Given the description of an element on the screen output the (x, y) to click on. 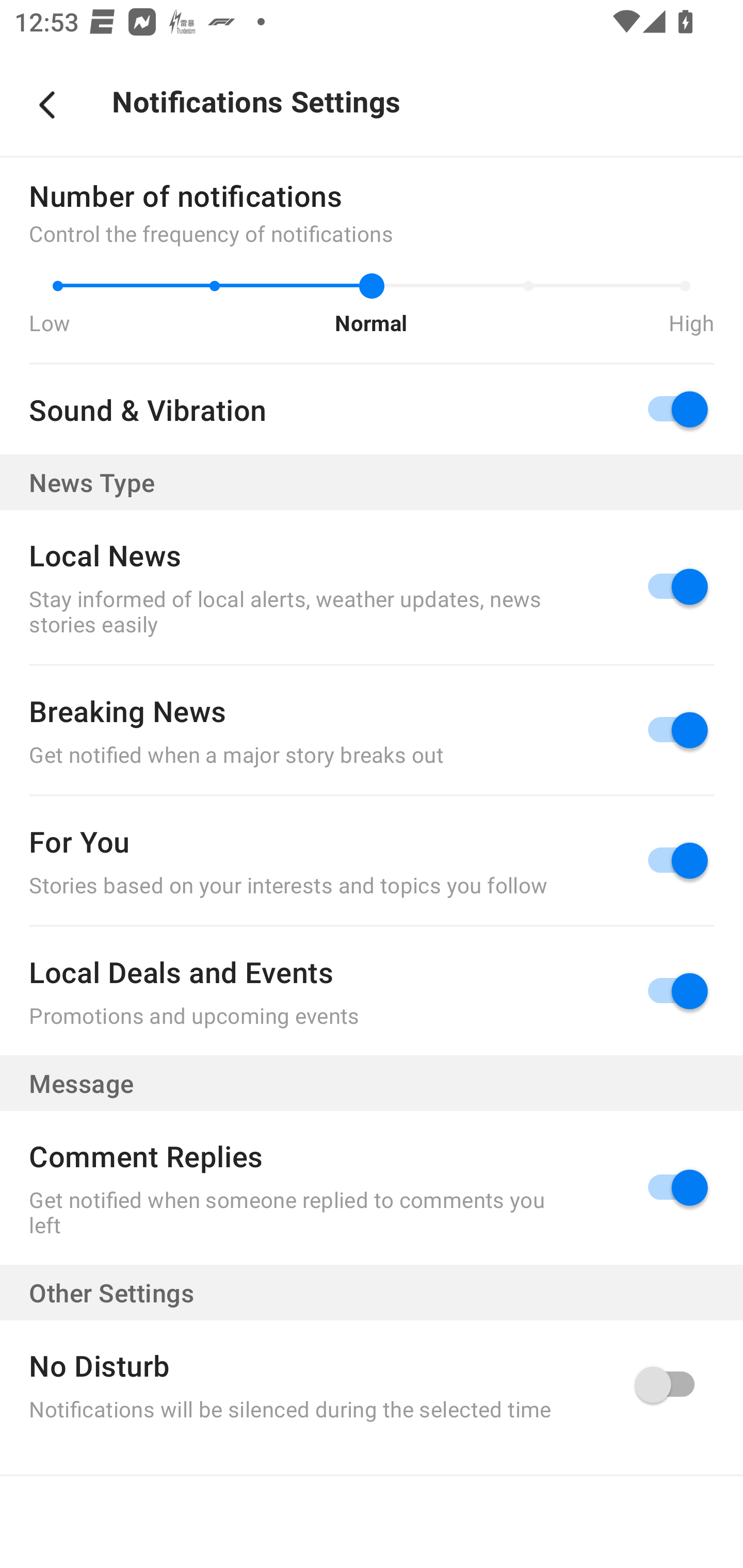
Back (46, 104)
Sound & Vibration (371, 409)
